Given the description of an element on the screen output the (x, y) to click on. 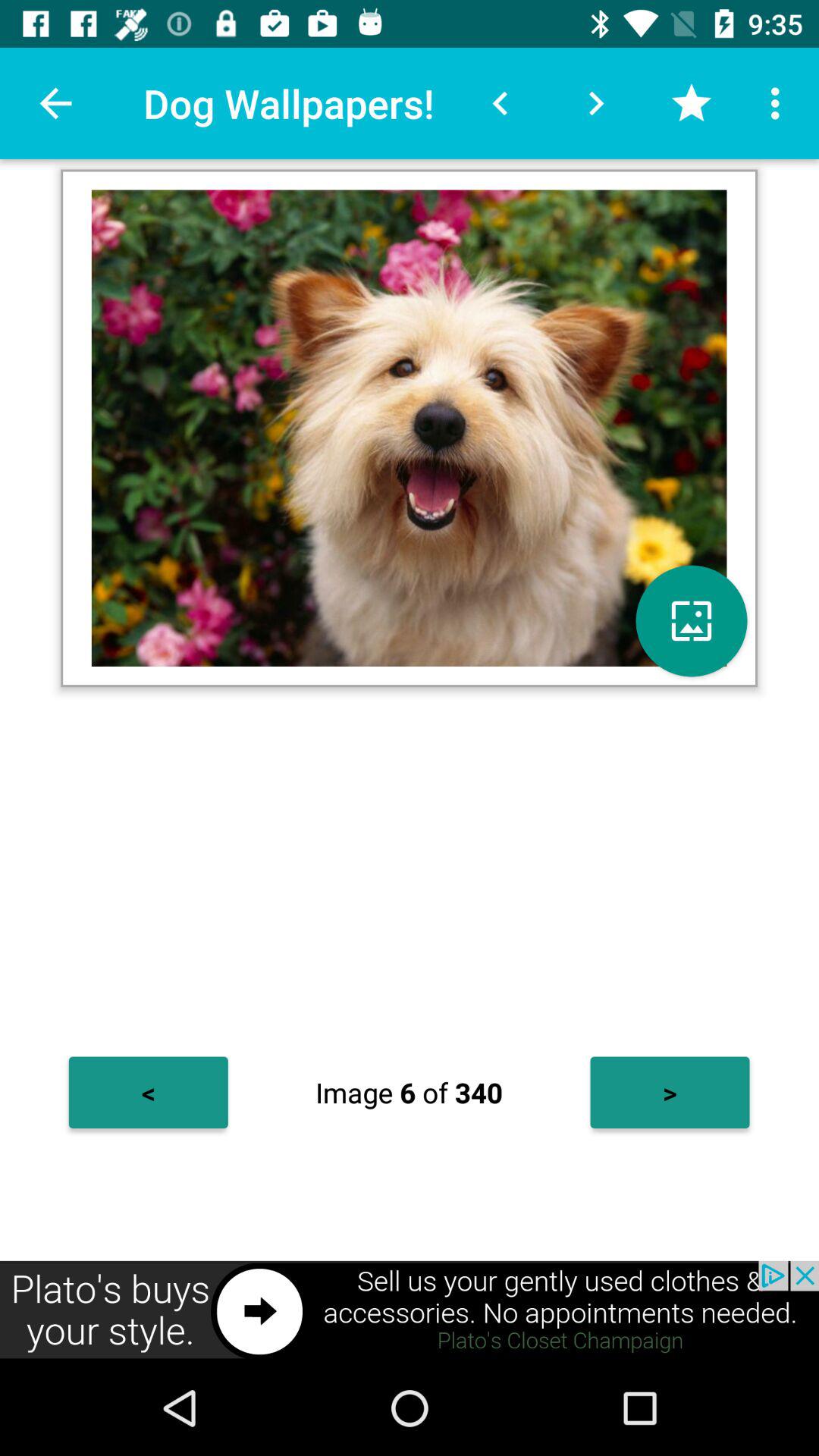
add wallpaper (691, 620)
